Given the description of an element on the screen output the (x, y) to click on. 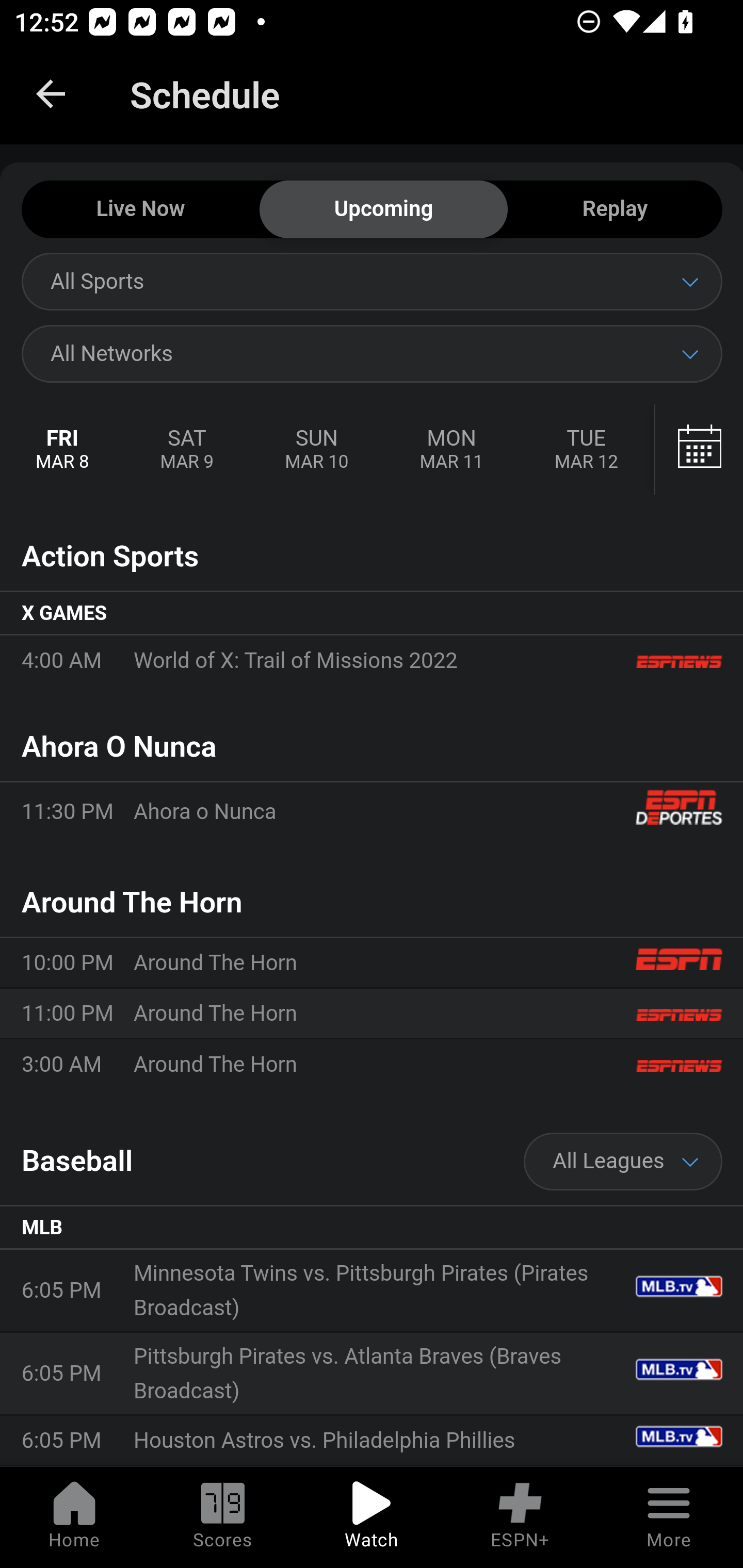
back.button (50, 93)
Live Now (140, 209)
Upcoming (382, 209)
Replay (614, 209)
All Sports (371, 281)
All Networks (371, 353)
FRI MAR 8 (63, 449)
SAT MAR 9 (186, 449)
SUN MAR 10 (316, 449)
MON MAR 11 (451, 449)
TUE MAR 12 (586, 449)
WED MAR 13 (697, 449)
All Leagues (622, 1161)
Home (74, 1517)
Scores (222, 1517)
ESPN+ (519, 1517)
More (668, 1517)
